Given the description of an element on the screen output the (x, y) to click on. 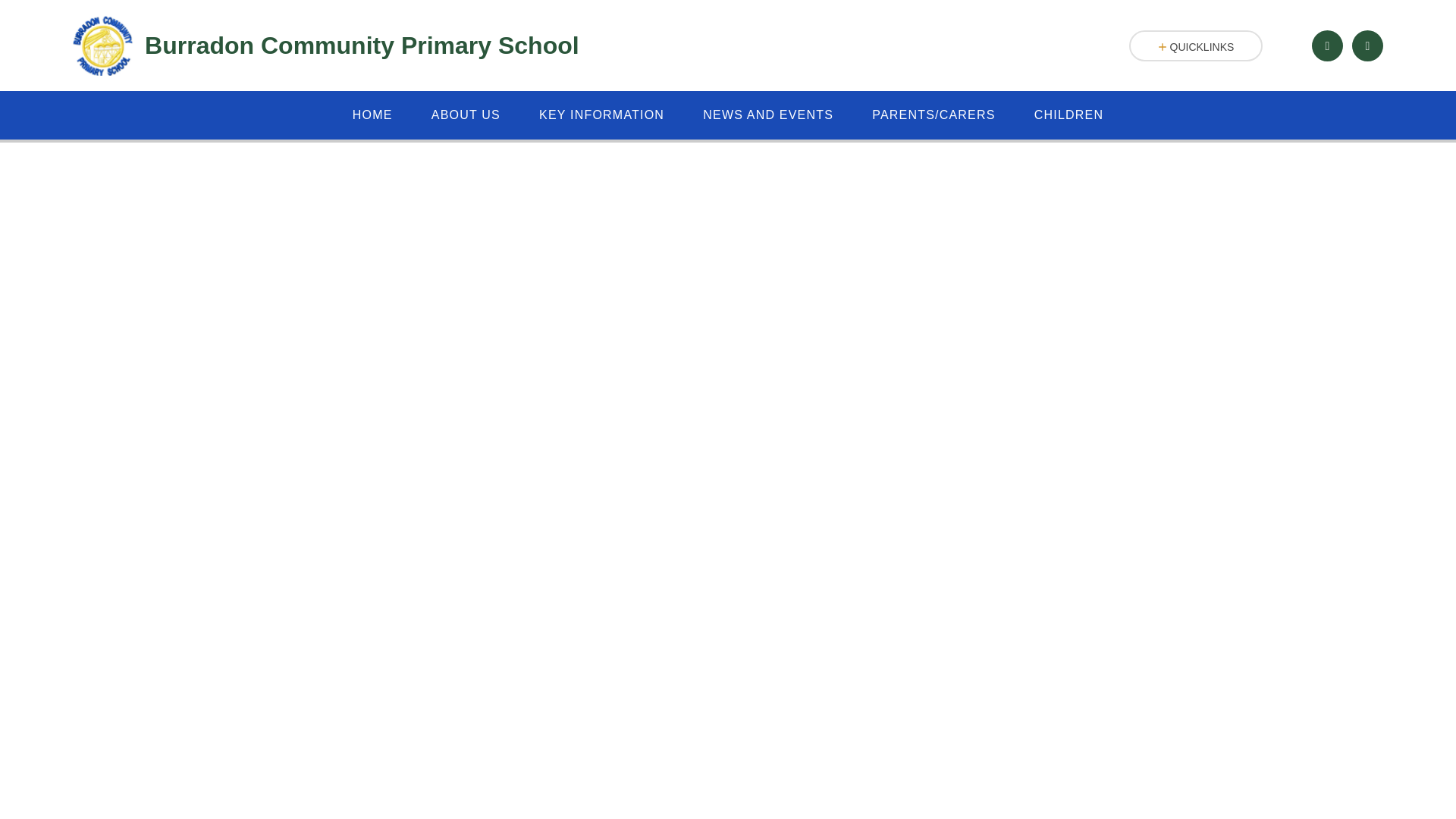
KEY INFORMATION (601, 114)
ABOUT US (465, 114)
HOME (372, 114)
Burradon Community Primary School (325, 45)
